Given the description of an element on the screen output the (x, y) to click on. 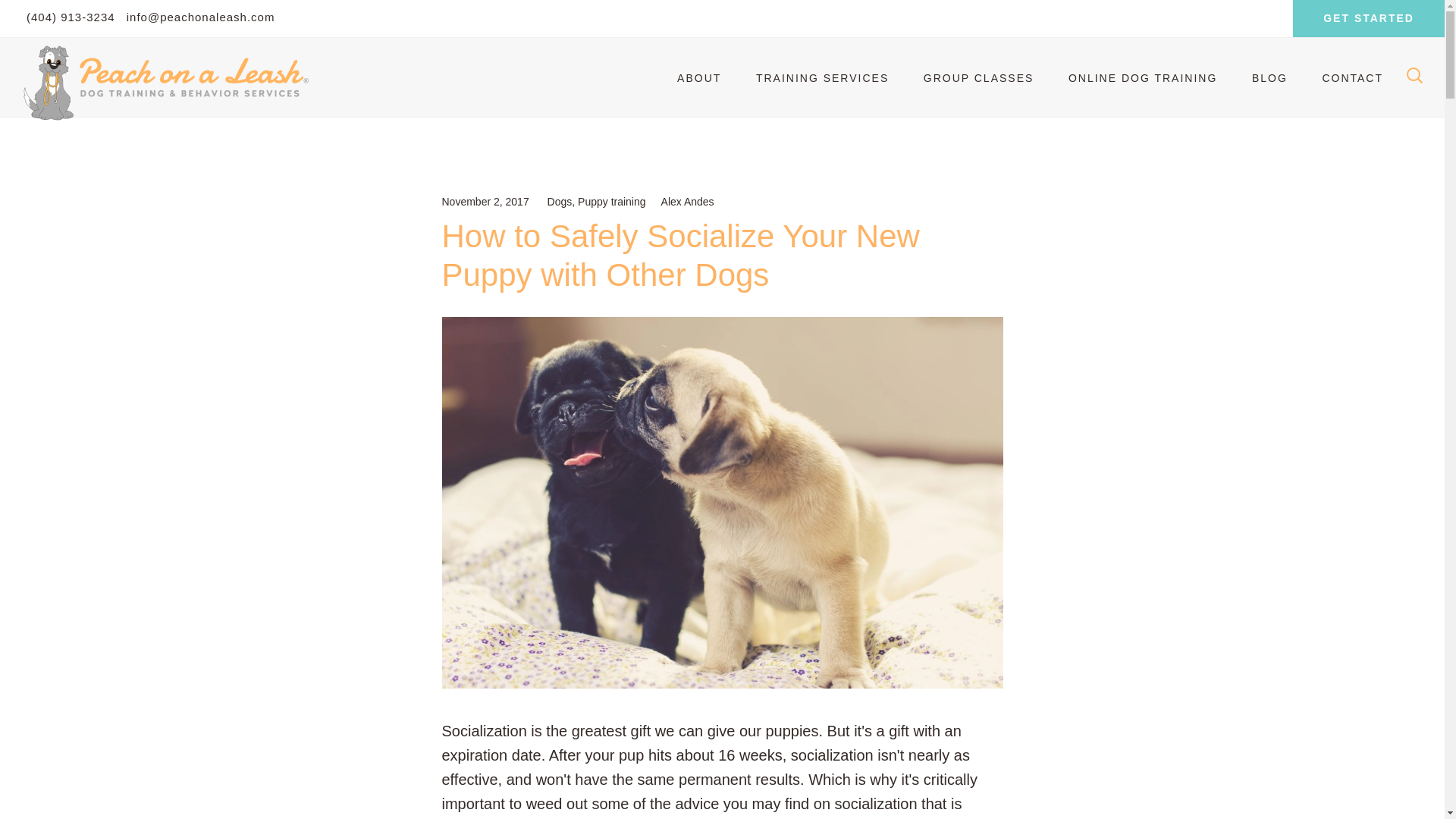
CONTACT (1351, 78)
Dogs (559, 201)
GROUP CLASSES (978, 78)
November 2, 2017 (484, 201)
TRAINING SERVICES (822, 78)
ABOUT (699, 78)
Puppy training (612, 201)
Alex Andes (687, 201)
Search (57, 18)
ONLINE DOG TRAINING (1141, 78)
BLOG (1269, 78)
View all posts by Alex Andes (687, 201)
